Given the description of an element on the screen output the (x, y) to click on. 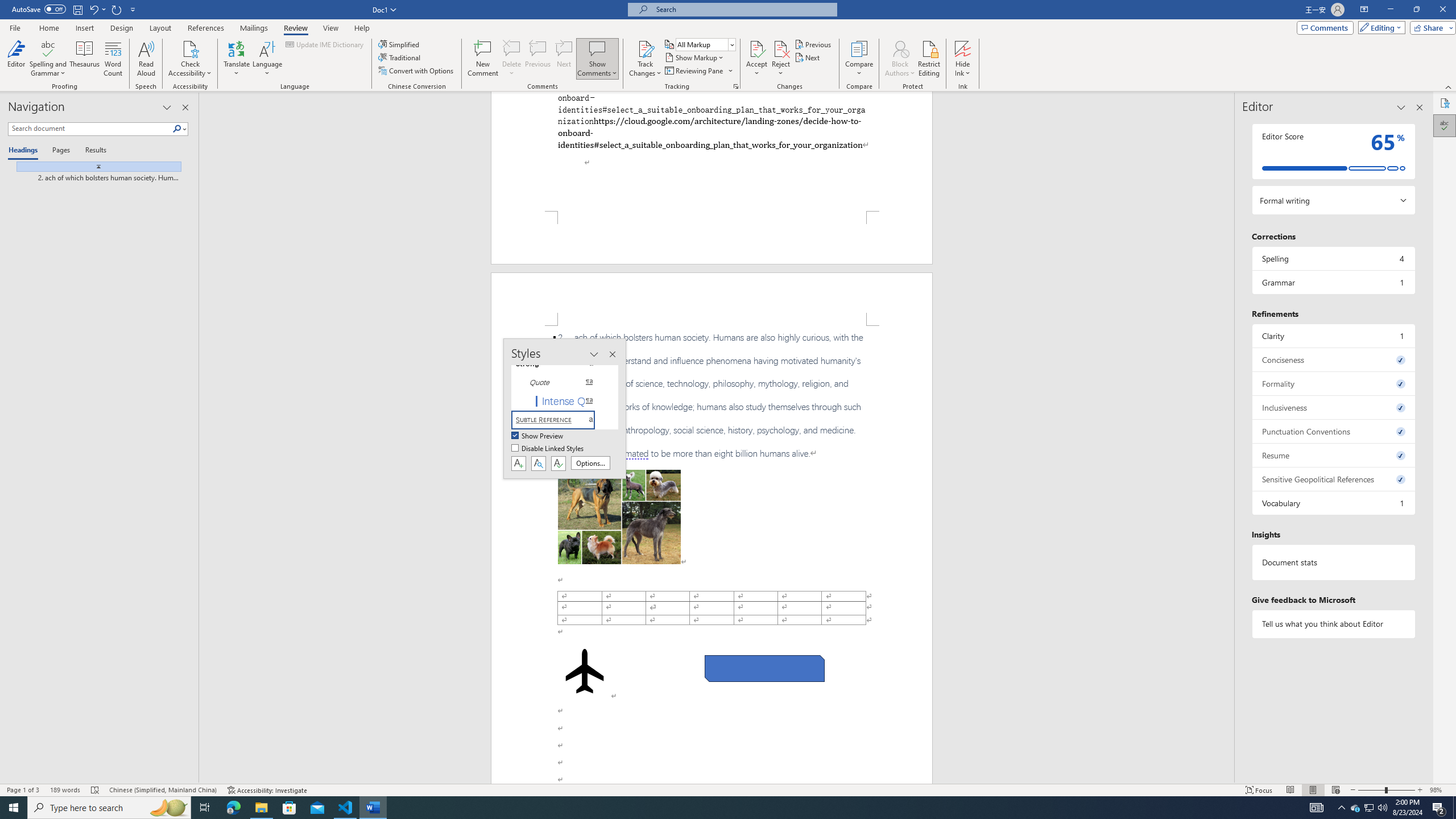
Home (48, 28)
Layout (160, 28)
Open (731, 44)
Design (122, 28)
Check Accessibility (189, 48)
Accept and Move to Next (756, 48)
Zoom Out (1371, 790)
Conciseness, 0 issues. Press space or enter to review items. (1333, 359)
Rectangle: Diagonal Corners Snipped 2 (764, 668)
Show Comments (597, 48)
Intense Quote (559, 400)
Clarity, 1 issue. Press space or enter to review items. (1333, 335)
